Given the description of an element on the screen output the (x, y) to click on. 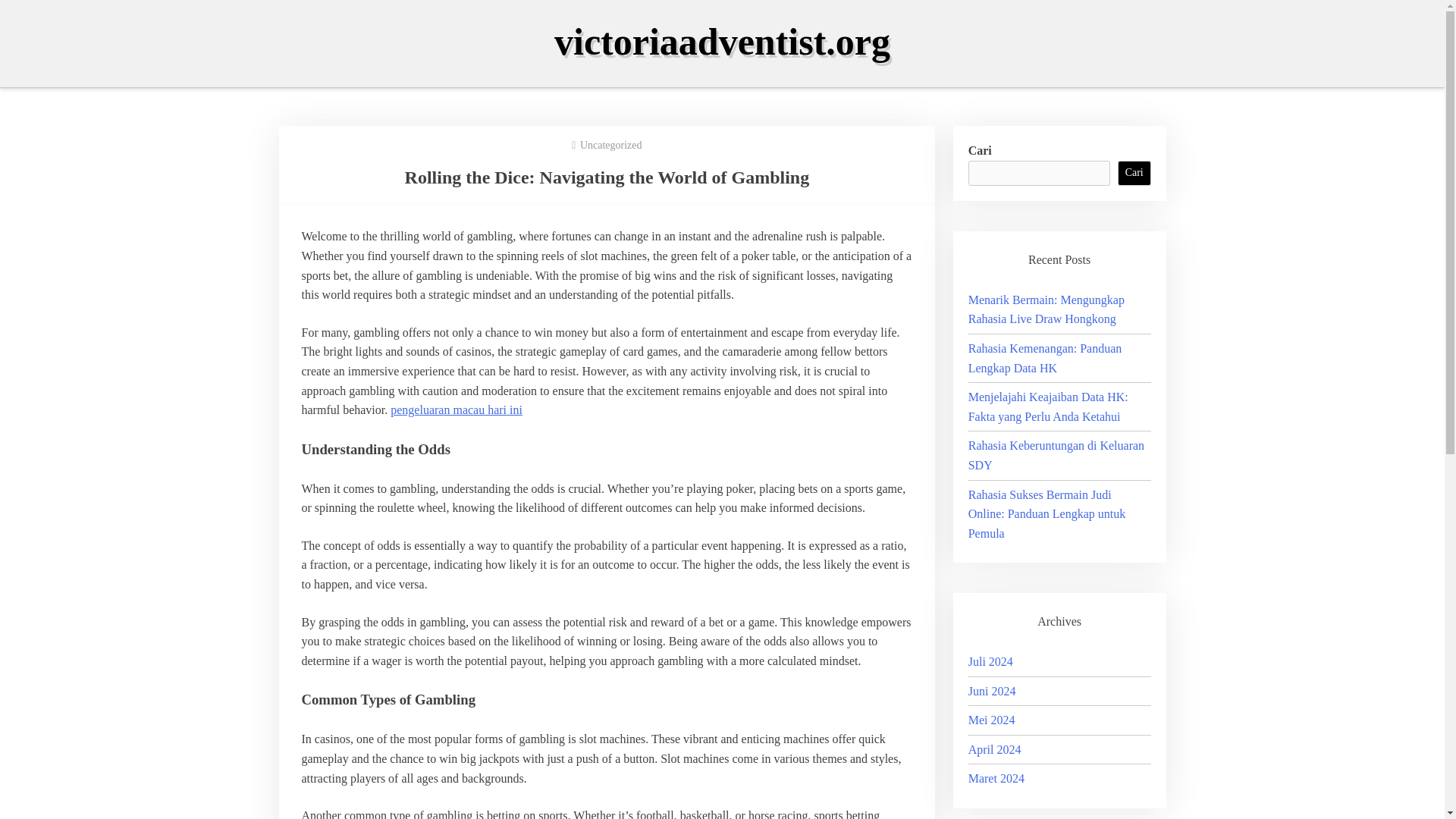
victoriaadventist.org (721, 41)
Menjelajahi Keajaiban Data HK: Fakta yang Perlu Anda Ketahui (1048, 406)
Mei 2024 (991, 719)
Menarik Bermain: Mengungkap Rahasia Live Draw Hongkong (1046, 309)
April 2024 (995, 748)
pengeluaran macau hari ini (456, 409)
Maret 2024 (996, 778)
Rahasia Kemenangan: Panduan Lengkap Data HK (1045, 358)
Cari (1134, 173)
Rahasia Keberuntungan di Keluaran SDY (1056, 454)
Juni 2024 (992, 689)
Uncategorized (610, 144)
Juli 2024 (990, 661)
